Given the description of an element on the screen output the (x, y) to click on. 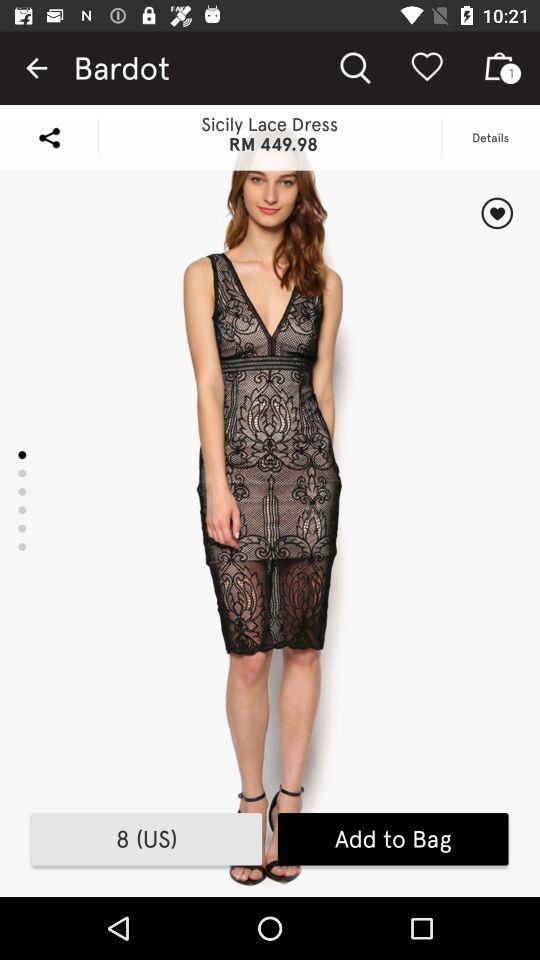
choose the icon to the right of the 8 (us) (392, 839)
